Given the description of an element on the screen output the (x, y) to click on. 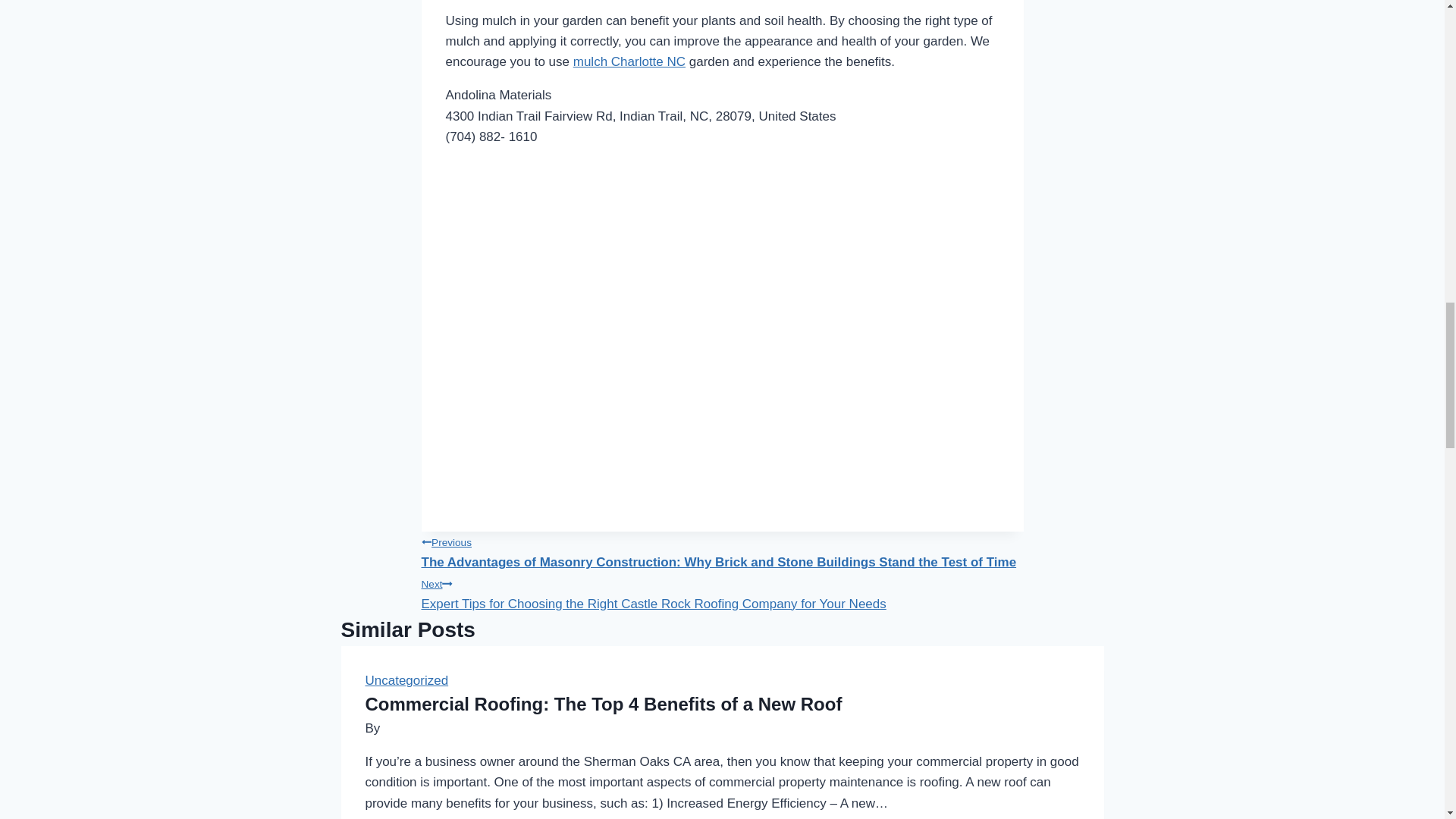
Uncategorized (406, 680)
mulch Charlotte NC (629, 61)
Commercial Roofing: The Top 4 Benefits of a New Roof (604, 703)
